Given the description of an element on the screen output the (x, y) to click on. 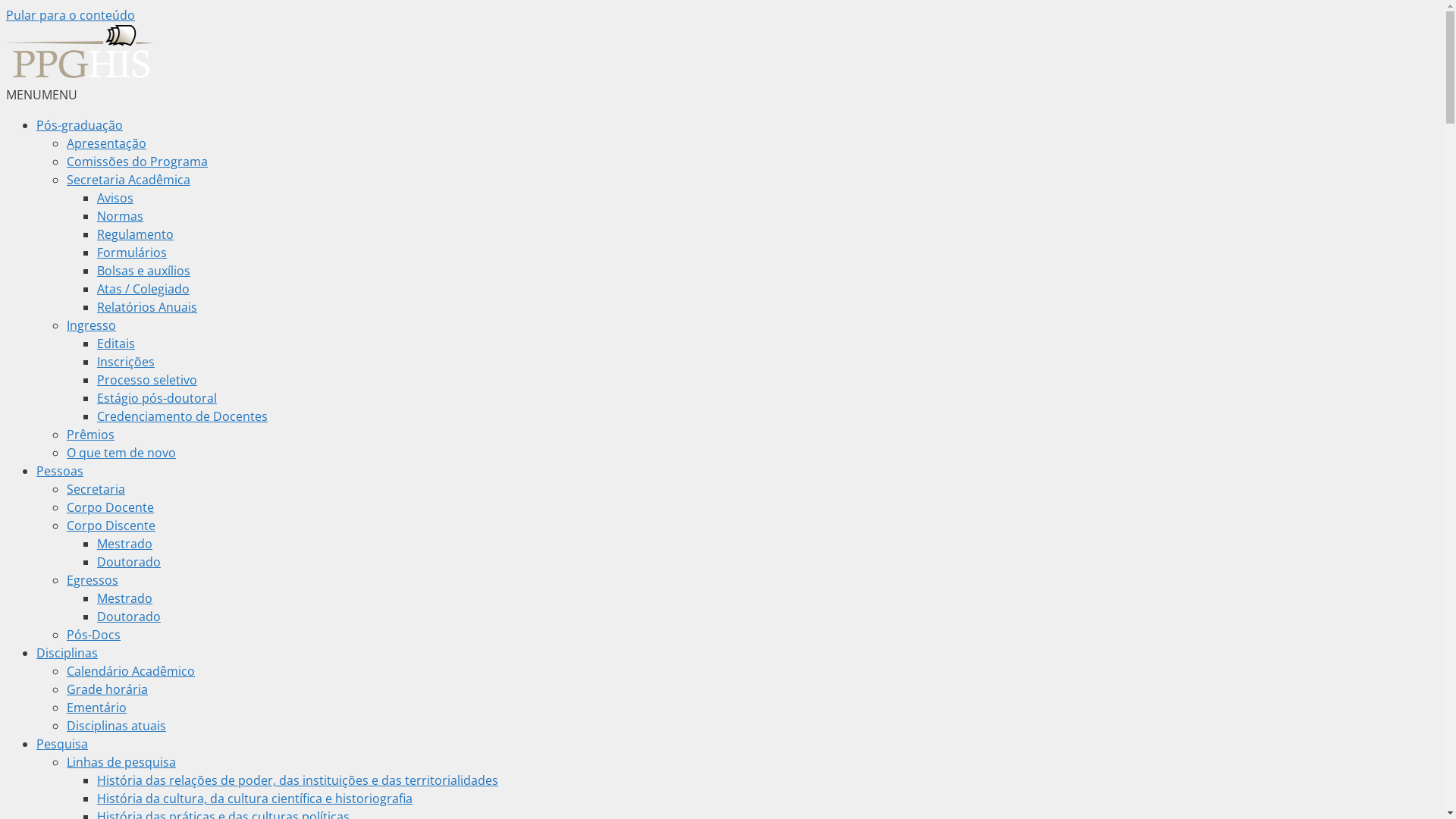
Ingresso Element type: text (91, 324)
Disciplinas Element type: text (66, 652)
Corpo Docente Element type: text (109, 506)
Normas Element type: text (120, 215)
Pesquisa Element type: text (61, 743)
Corpo Discente Element type: text (110, 525)
Regulamento Element type: text (135, 233)
Mestrado Element type: text (124, 597)
O que tem de novo Element type: text (120, 452)
Processo seletivo Element type: text (147, 379)
Secretaria Element type: text (95, 488)
Credenciamento de Docentes Element type: text (182, 415)
Mestrado Element type: text (124, 543)
Editais Element type: text (115, 343)
Doutorado Element type: text (128, 561)
Egressos Element type: text (92, 579)
Doutorado Element type: text (128, 616)
Atas / Colegiado Element type: text (143, 288)
Linhas de pesquisa Element type: text (120, 761)
Pessoas Element type: text (59, 470)
Disciplinas atuais Element type: text (116, 725)
Avisos Element type: text (115, 197)
